Given the description of an element on the screen output the (x, y) to click on. 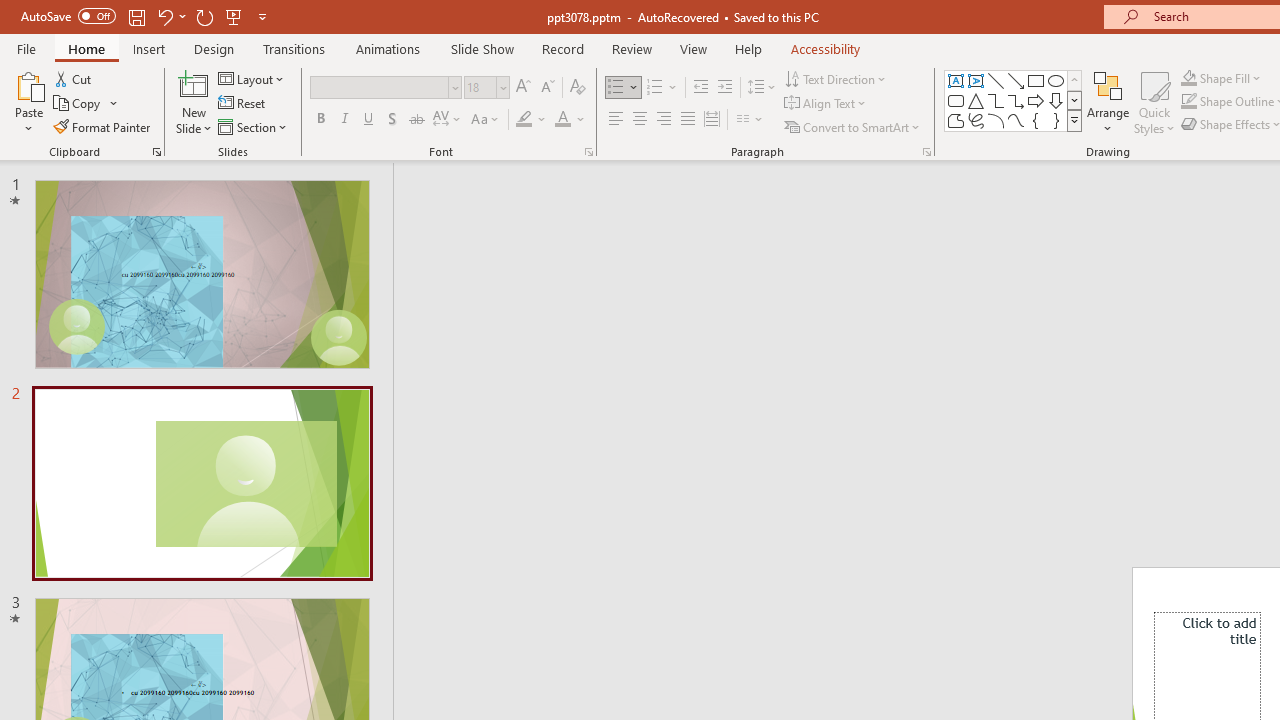
Office Clipboard... (156, 151)
Change Case (486, 119)
Center (639, 119)
Numbering (661, 87)
Shape Fill (1221, 78)
Row up (1074, 79)
Left Brace (1035, 120)
Increase Font Size (522, 87)
Cut (73, 78)
Increase Indent (725, 87)
Line Arrow (1016, 80)
Accessibility (825, 48)
Clear Formatting (577, 87)
Rectangle: Rounded Corners (955, 100)
Text Highlight Color Yellow (524, 119)
